Given the description of an element on the screen output the (x, y) to click on. 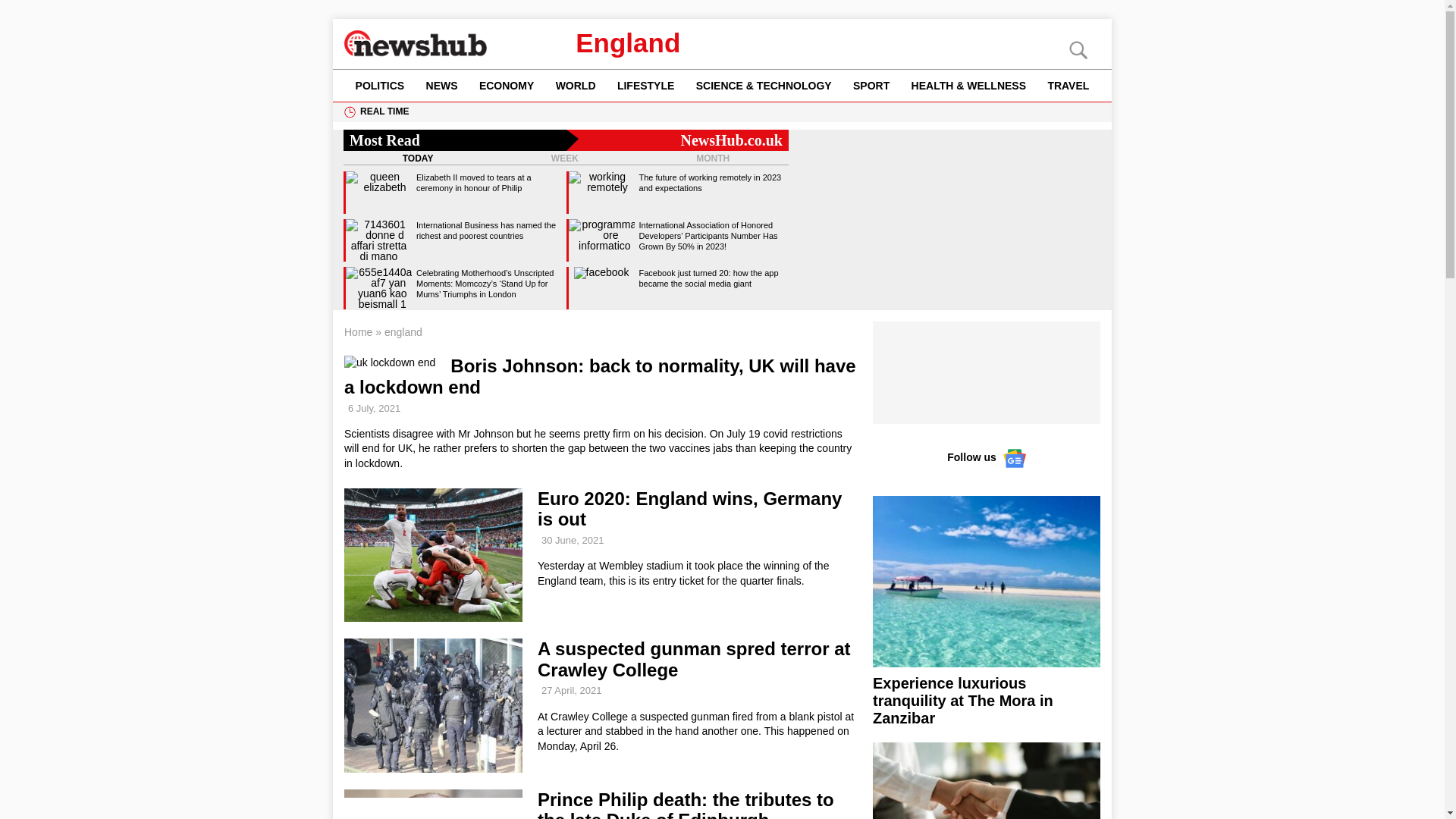
NEWS (440, 85)
Search (37, 11)
TRAVEL (1067, 85)
LIFESTYLE (646, 85)
POLITICS (378, 85)
REAL TIME (384, 111)
ECONOMY (506, 85)
WORLD (574, 85)
SPORT (872, 85)
